Given the description of an element on the screen output the (x, y) to click on. 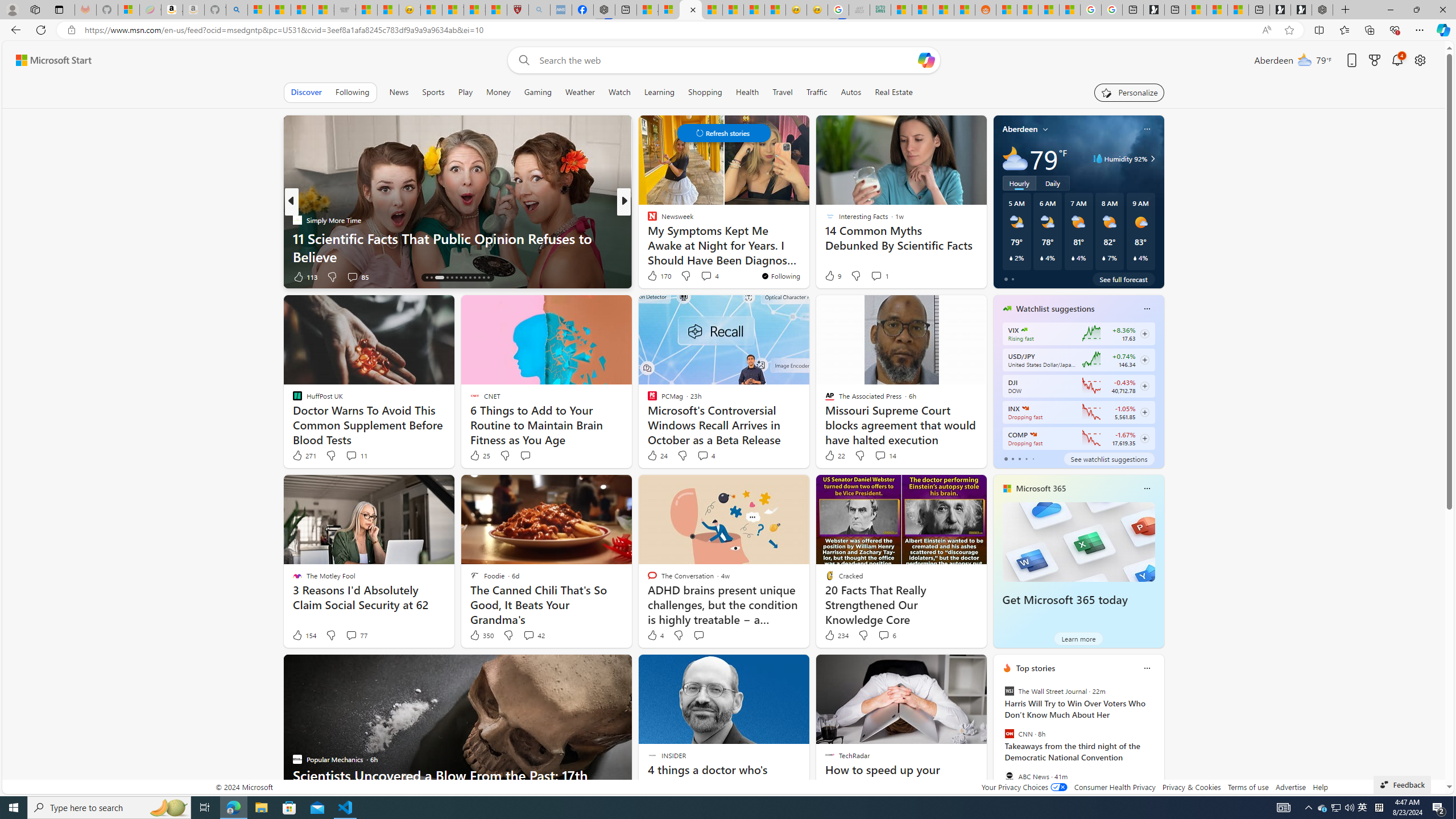
404 Like (654, 276)
How to clear your browser cache and cookies (807, 256)
S&P 500 (1025, 407)
View comments 5 Comment (698, 276)
